Given the description of an element on the screen output the (x, y) to click on. 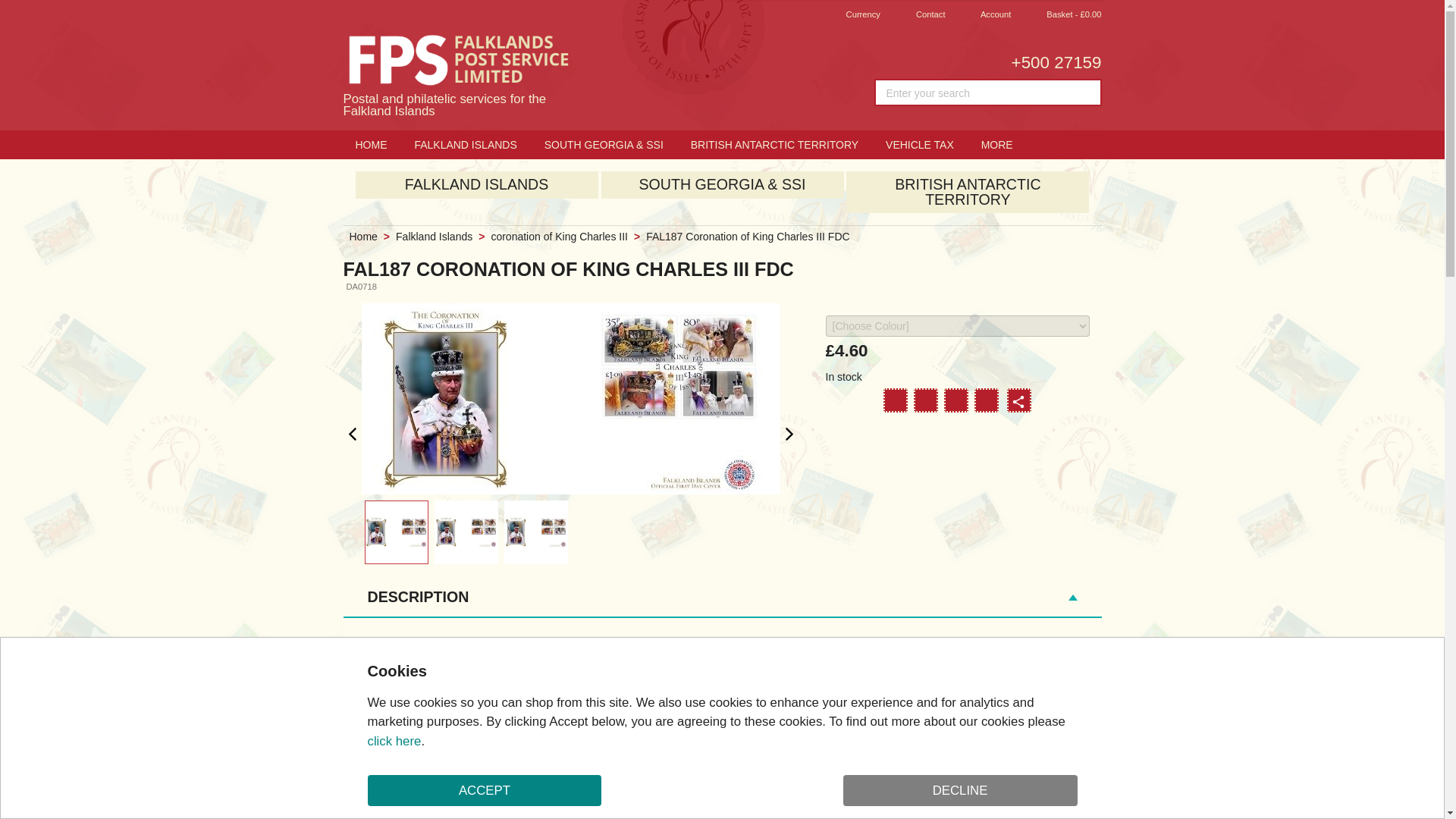
Postal and philatelic services for the Falkland Islands (456, 73)
FALKLAND ISLANDS (464, 144)
Currency (852, 14)
Contact (919, 14)
Falklands Stamps (1018, 401)
Account (984, 14)
Search (1085, 92)
HOME (370, 144)
